Given the description of an element on the screen output the (x, y) to click on. 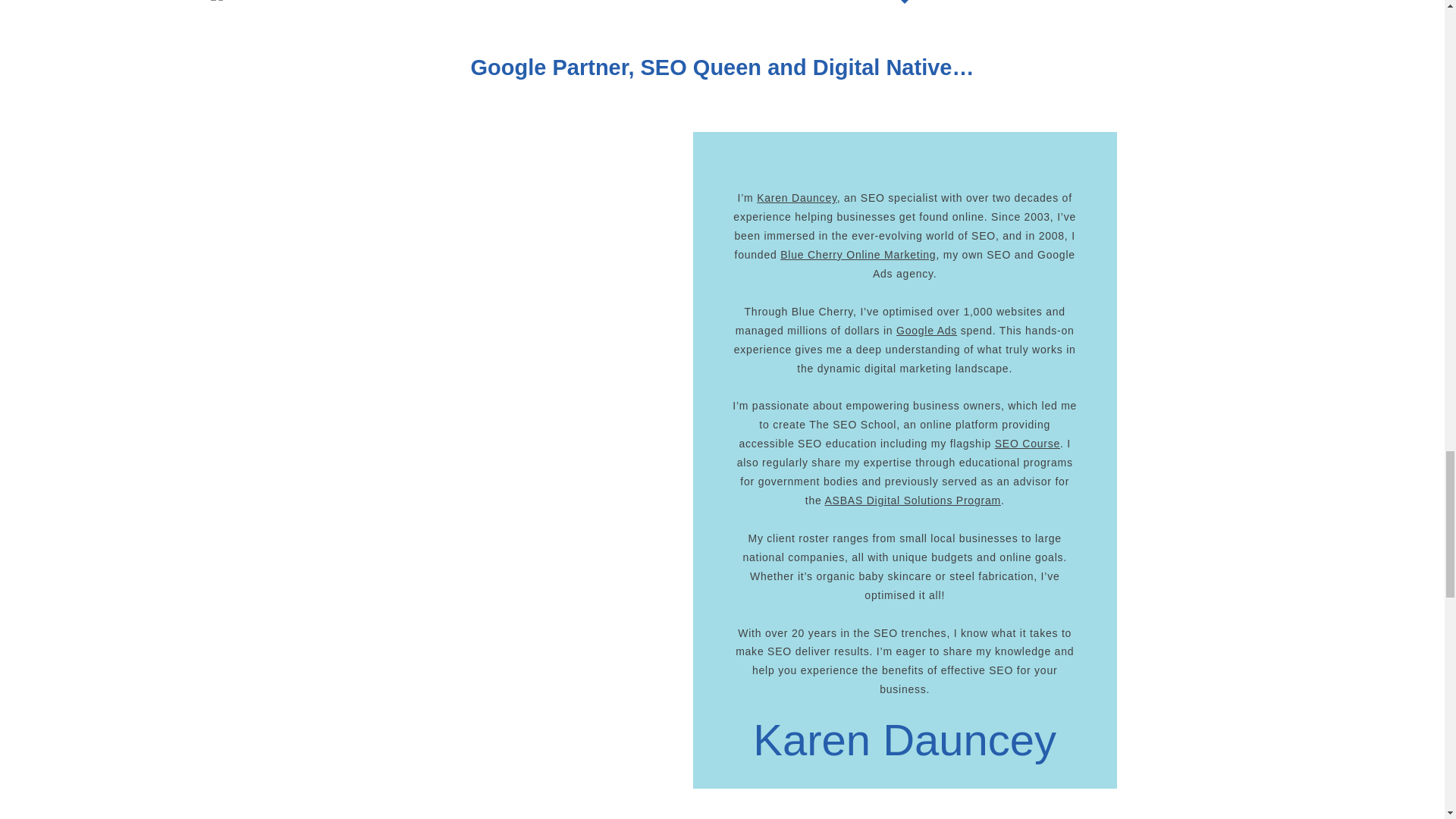
Karen Dauncey (796, 197)
Google Ads (926, 330)
ASBAS Digital Solutions Program (912, 500)
Blue Cherry Online Marketing (858, 254)
SEO Course (1026, 443)
